Given the description of an element on the screen output the (x, y) to click on. 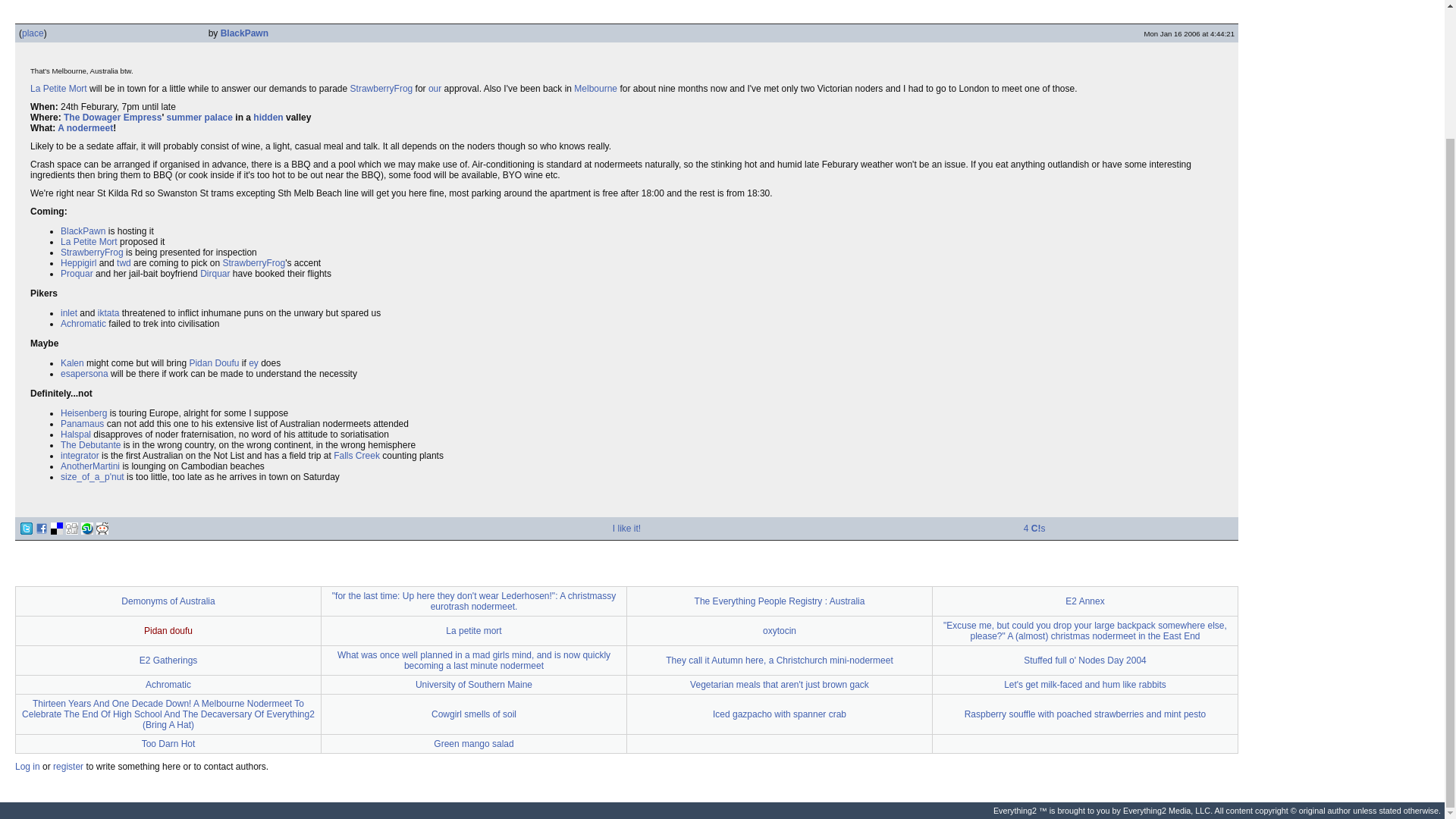
our (434, 88)
BlackPawn (244, 32)
BlackPawn (82, 231)
Falls Creek (356, 455)
La Petite Mort (58, 88)
Melbourne (595, 88)
Jan 16 2006 at 4:44:21 (1189, 33)
Panamaus (82, 423)
Heisenberg (83, 412)
